Given the description of an element on the screen output the (x, y) to click on. 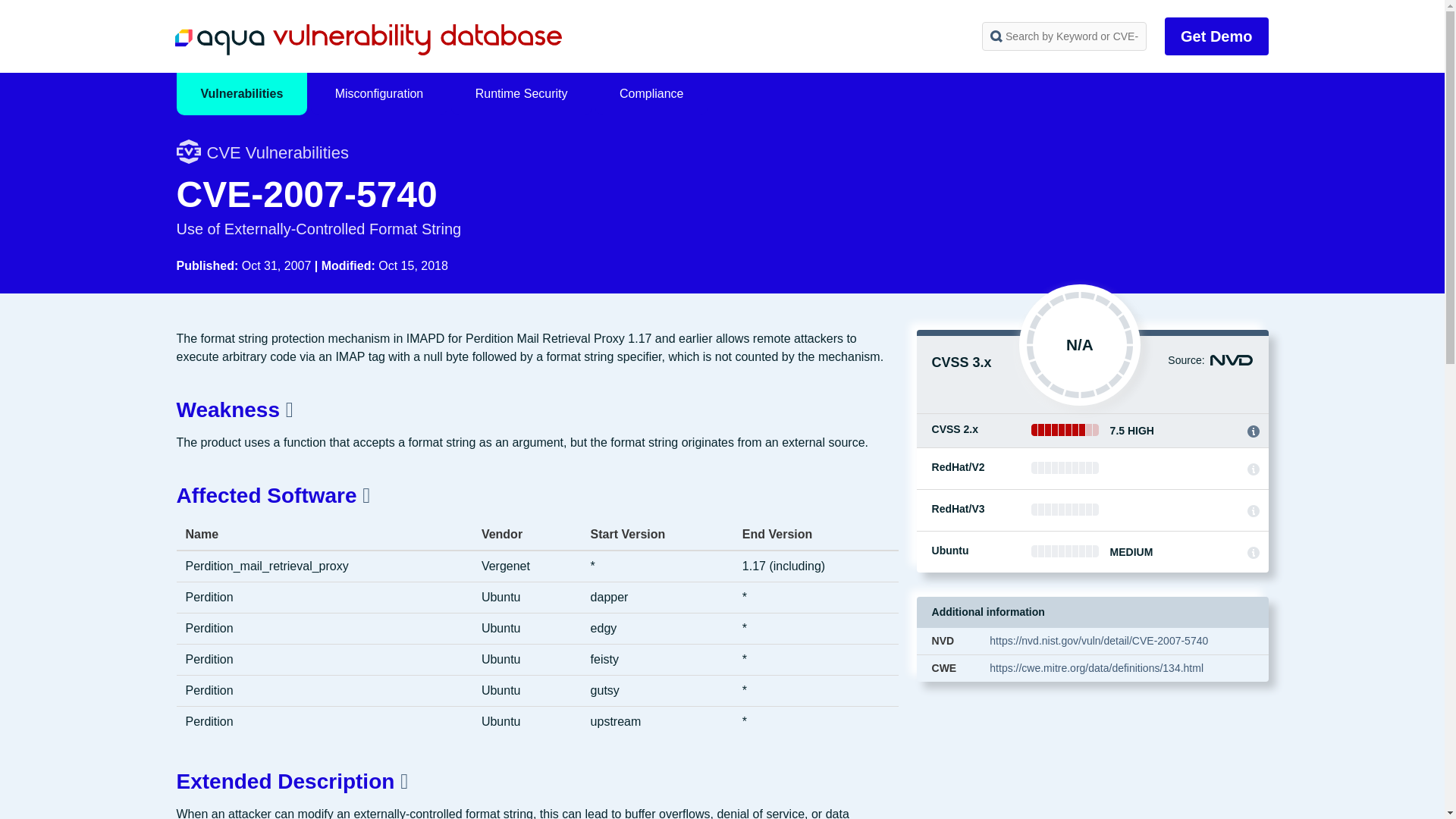
Vulnerabilities (241, 93)
Get Demo (1216, 36)
Misconfiguration (379, 93)
Compliance (651, 93)
Runtime Security (521, 93)
Aqua Vulnerability Database (367, 39)
Aqua Vulnerability Database (367, 39)
